Given the description of an element on the screen output the (x, y) to click on. 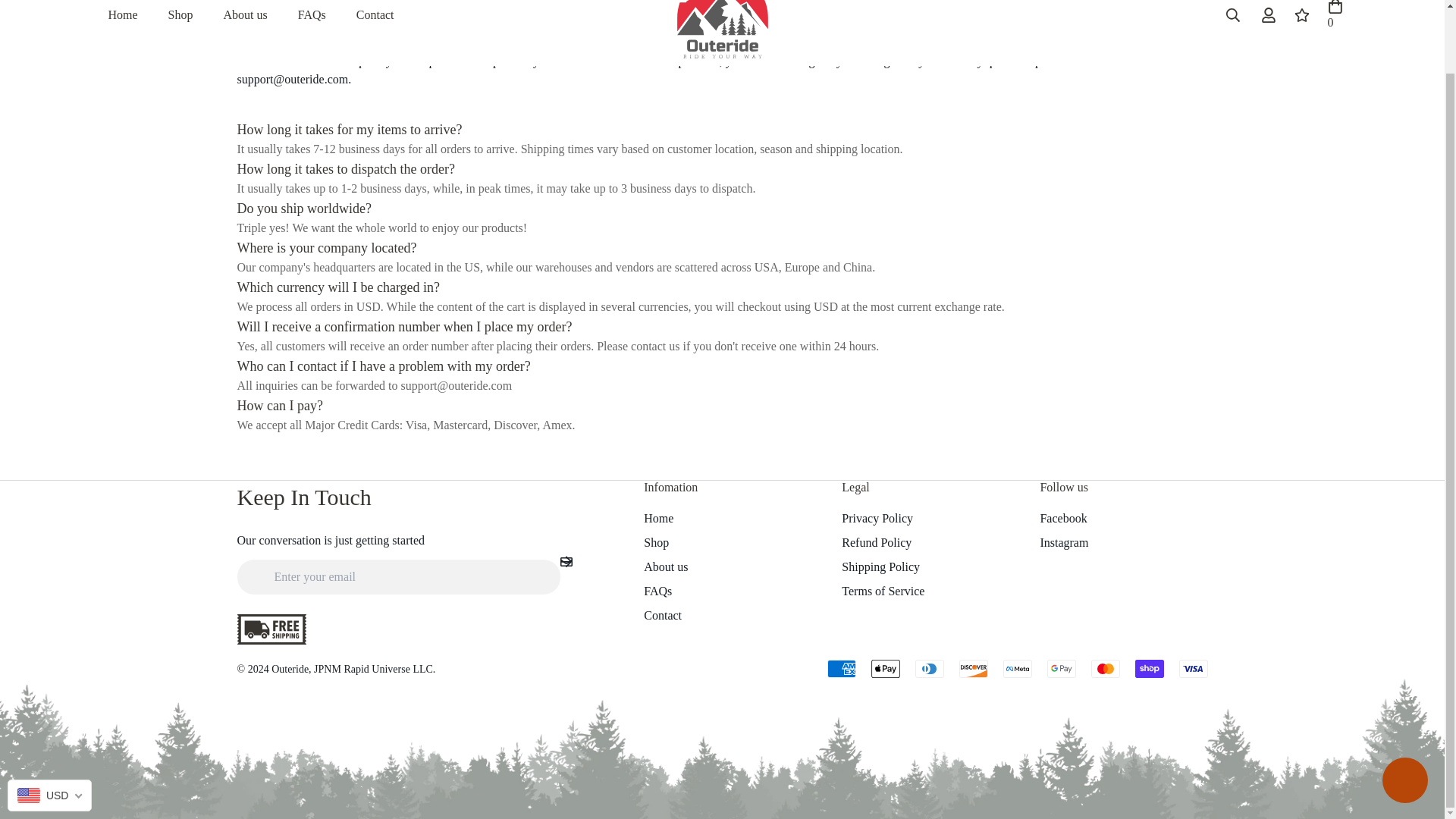
Home (691, 31)
About us (248, 19)
Shopify online store chat (254, 19)
Shop (1404, 712)
Home (336, 19)
FAQs (183, 19)
Back to the home page (125, 19)
Contact (314, 19)
